Given the description of an element on the screen output the (x, y) to click on. 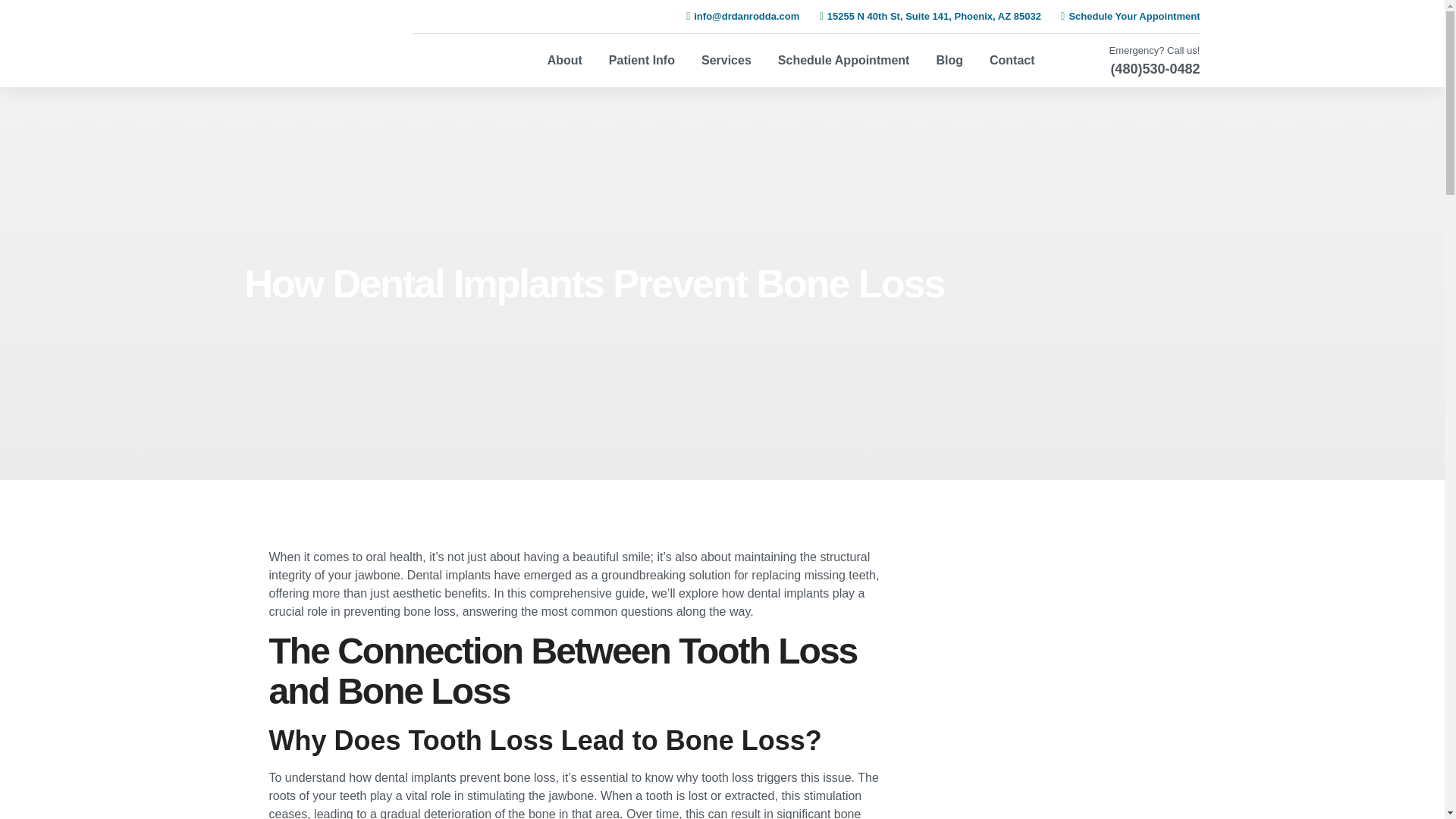
Services (726, 60)
15255 N 40th St, Suite 141, Phoenix, AZ 85032 (925, 16)
Schedule Your Appointment (1125, 16)
About (564, 60)
Patient Info (641, 60)
